Given the description of an element on the screen output the (x, y) to click on. 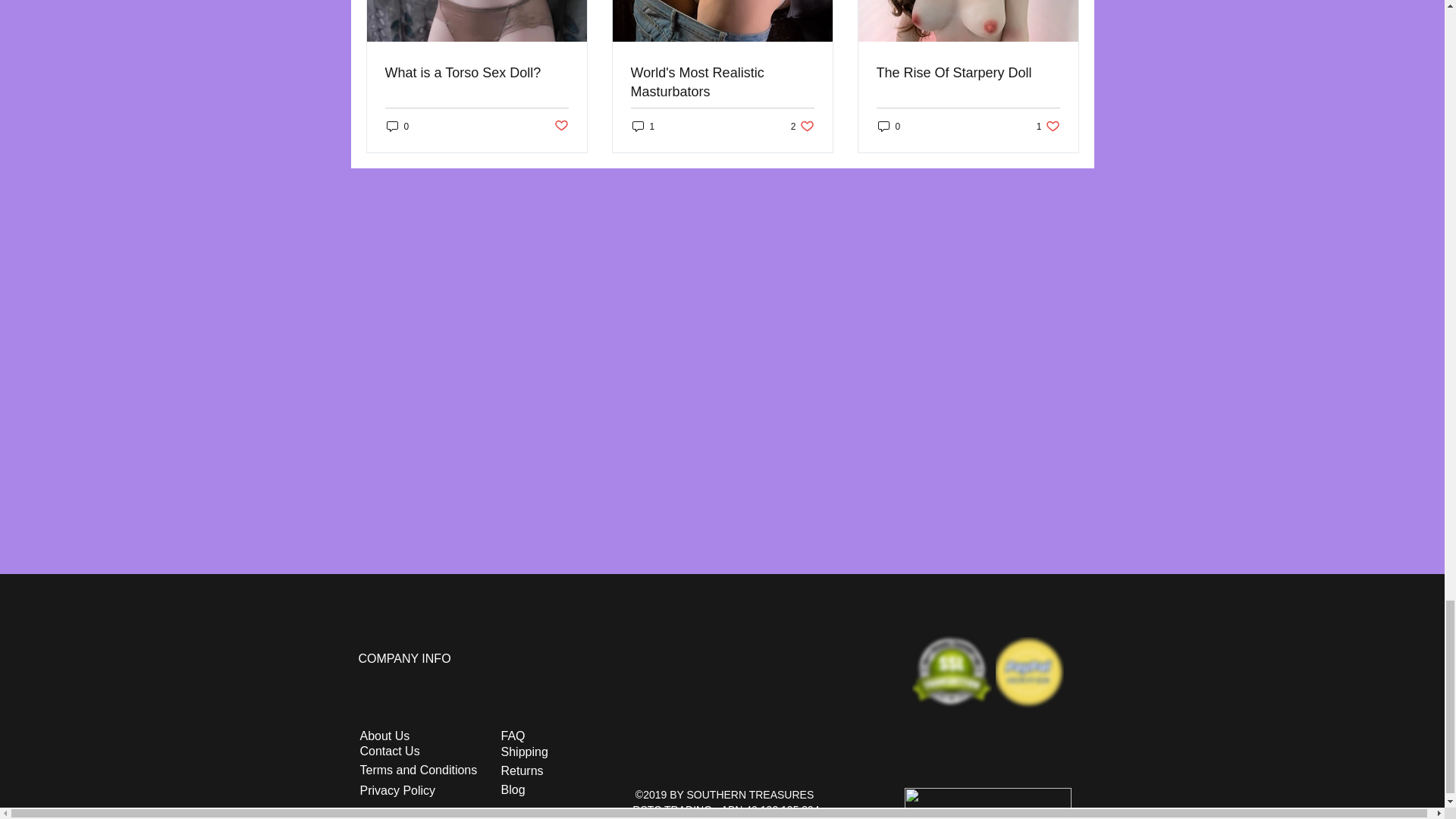
0 (889, 125)
1 (643, 125)
World's Most Realistic Masturbators (721, 82)
Post not marked as liked (560, 125)
The Rise Of Starpery Doll (967, 72)
What is a Torso Sex Doll? (477, 72)
0 (1047, 125)
